Given the description of an element on the screen output the (x, y) to click on. 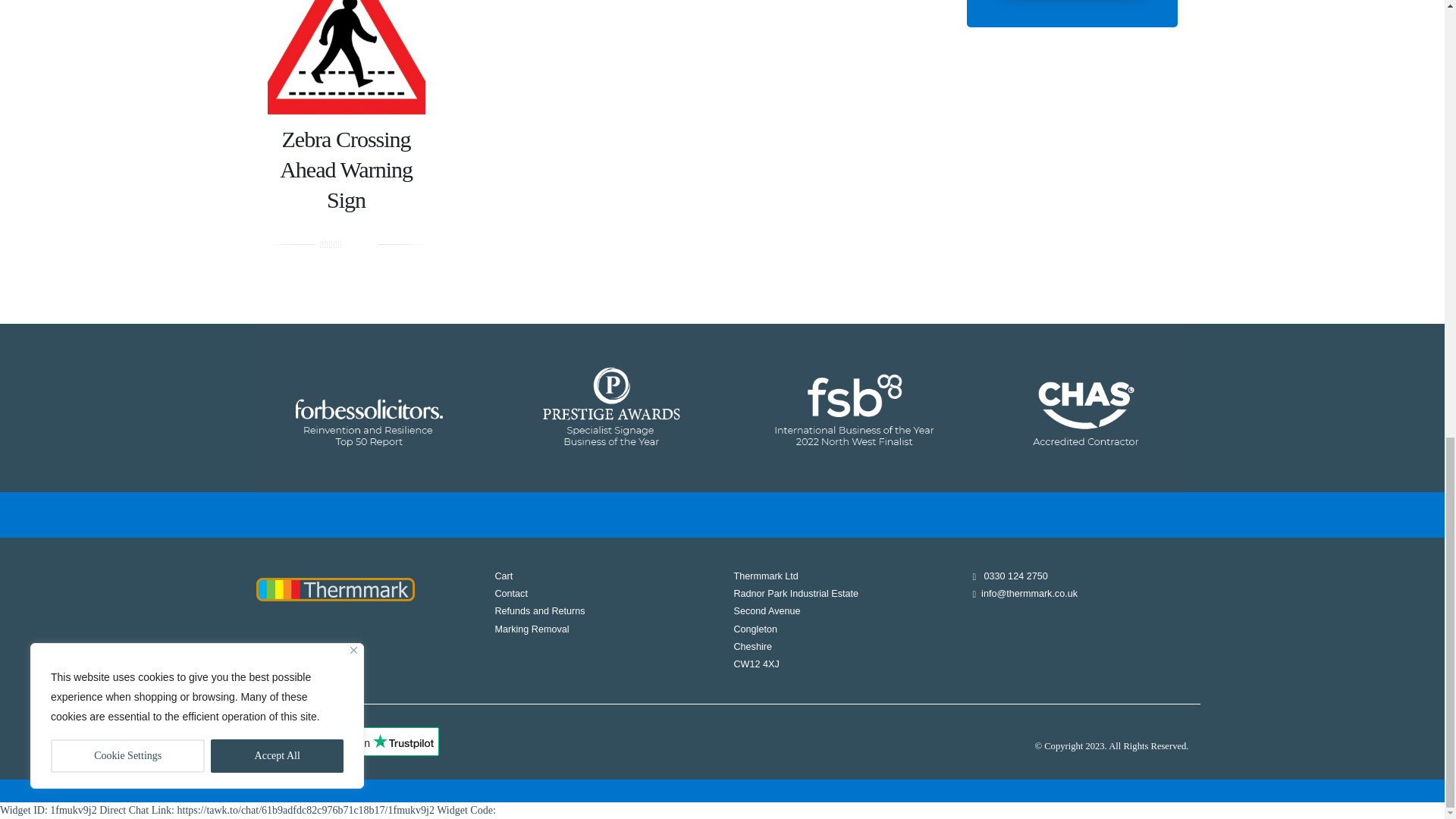
Customer reviews powered by Trustpilot (369, 746)
